Given the description of an element on the screen output the (x, y) to click on. 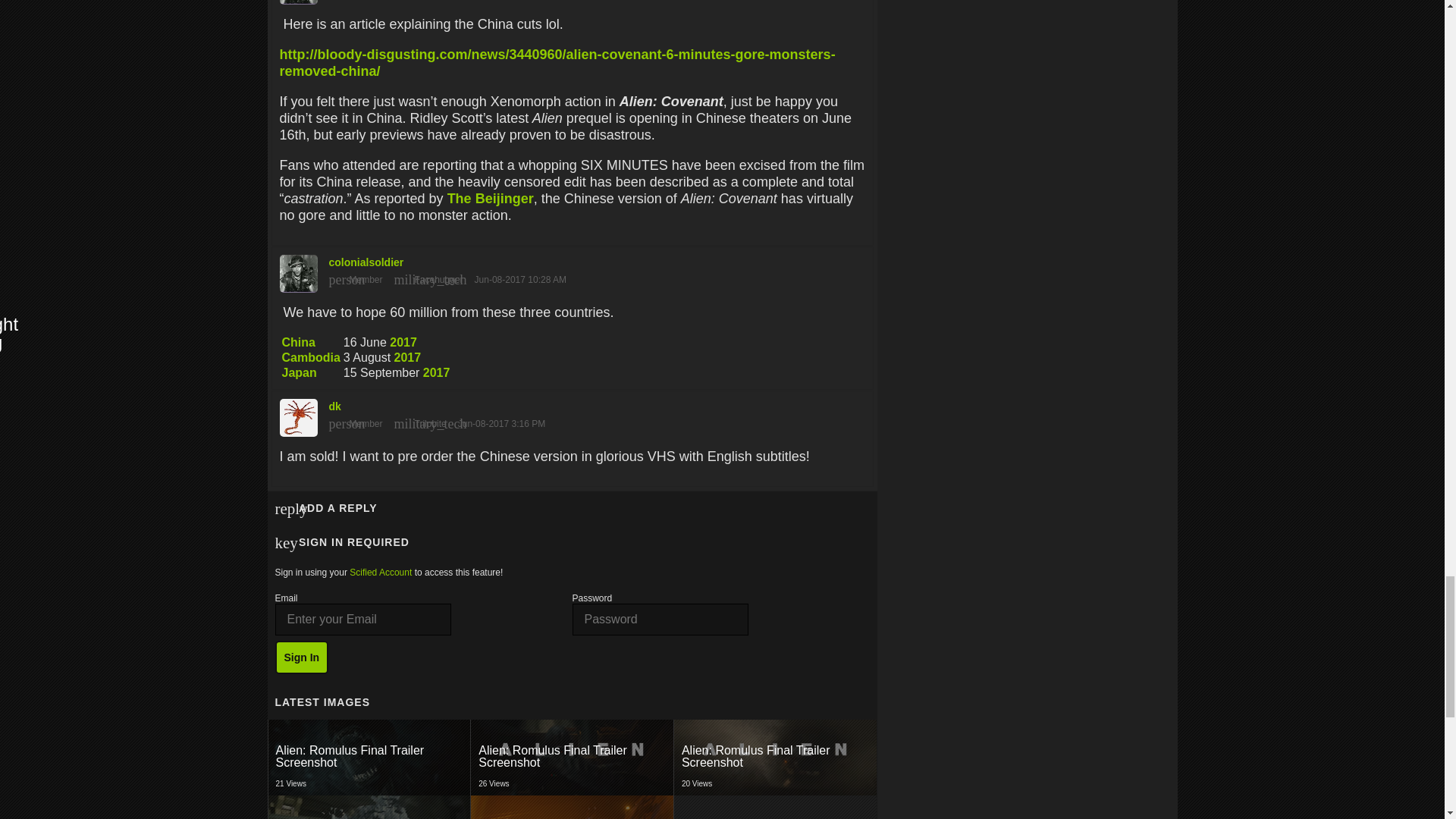
See More (368, 757)
See More (368, 757)
